Given the description of an element on the screen output the (x, y) to click on. 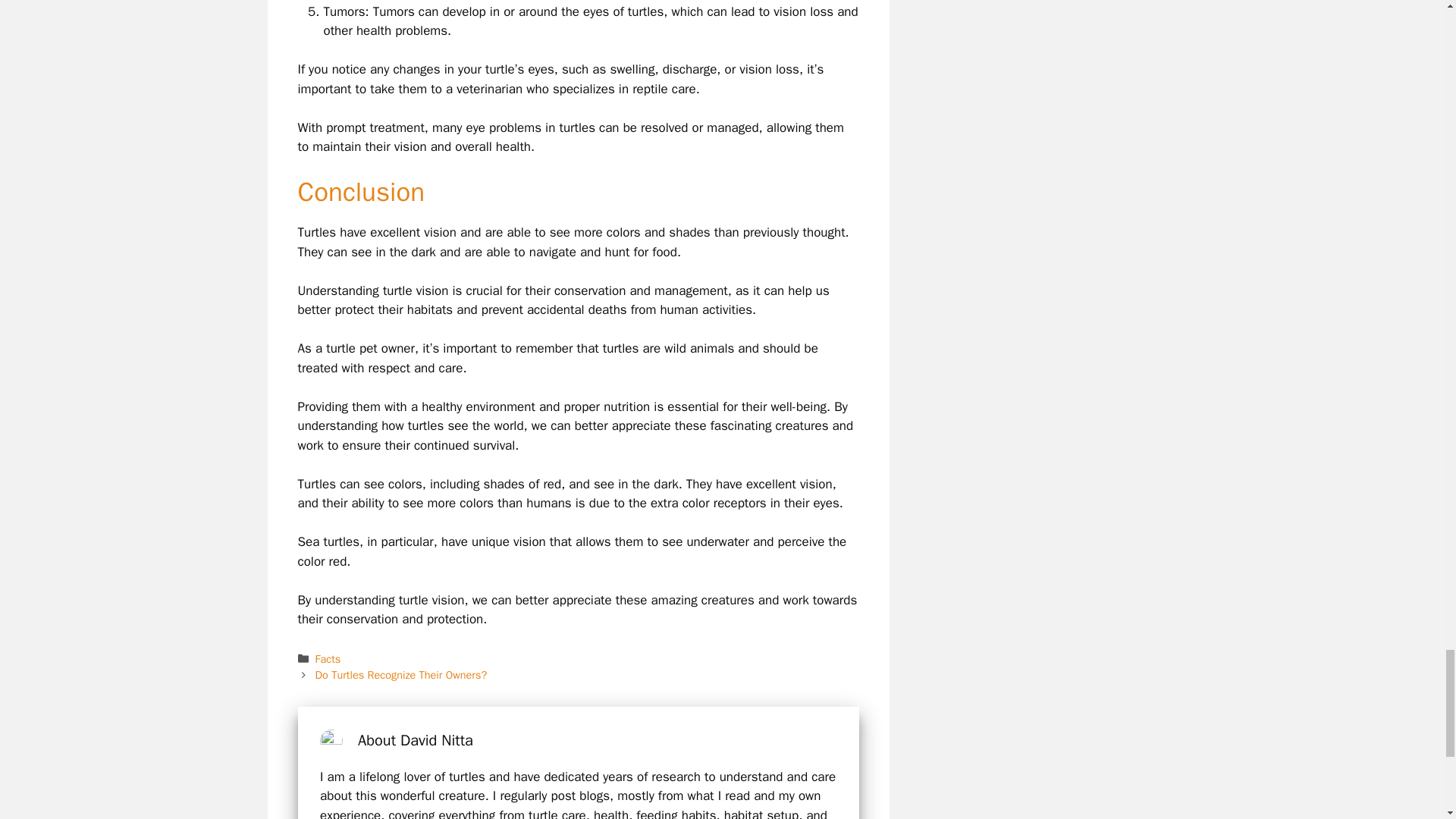
Facts (327, 658)
Do Turtles Recognize Their Owners? (401, 674)
